Given the description of an element on the screen output the (x, y) to click on. 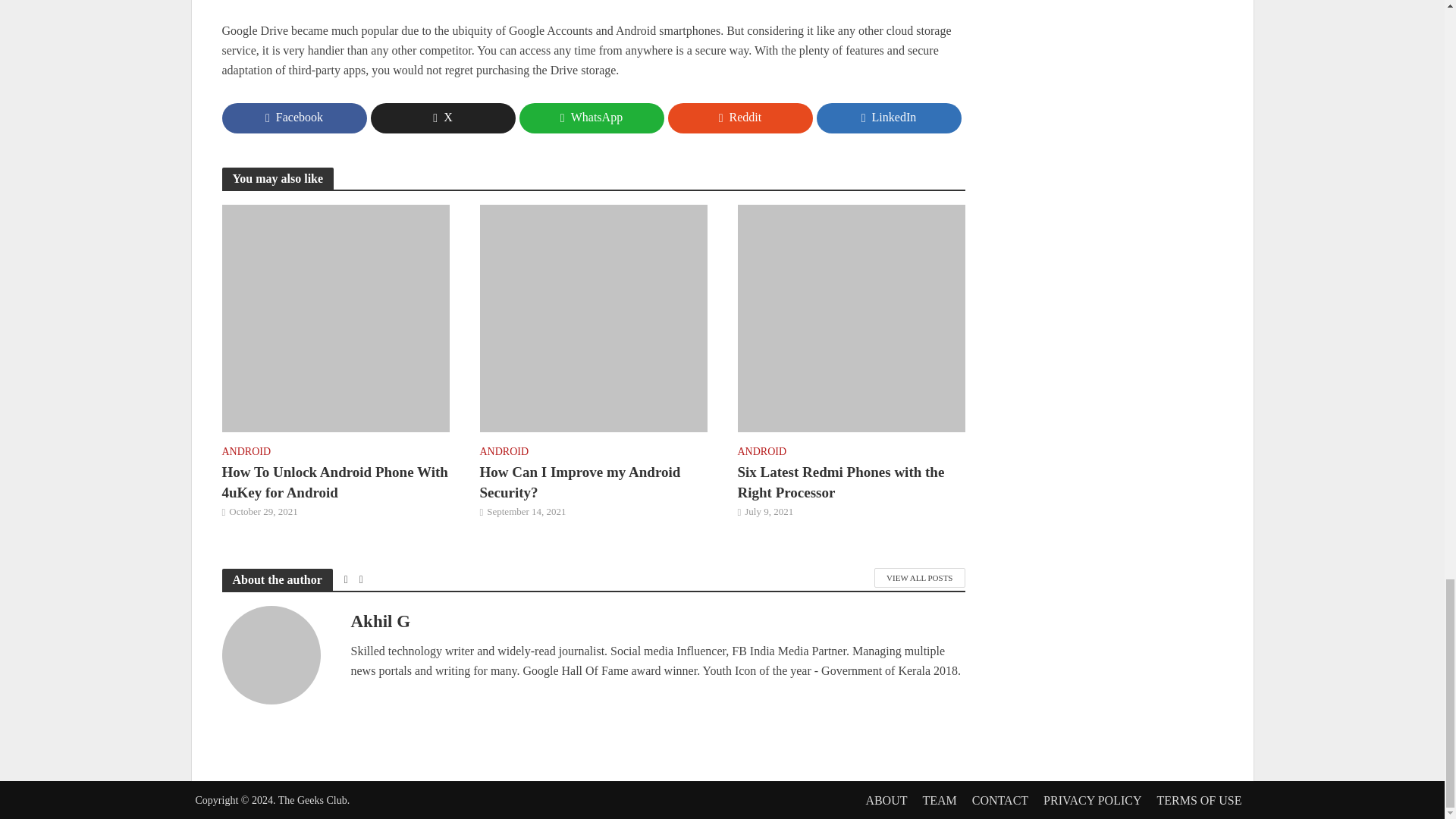
ANDROID (245, 453)
LinkedIn (887, 118)
Facebook (293, 118)
How Can I Improve my Android Security? (592, 317)
WhatsApp (590, 118)
Six Latest Redmi Phones with the Right Processor (849, 317)
How To Unlock Android Phone With 4uKey for Android (334, 482)
How To Unlock Android Phone With 4uKey for Android (334, 317)
Reddit (739, 118)
X (442, 118)
